Given the description of an element on the screen output the (x, y) to click on. 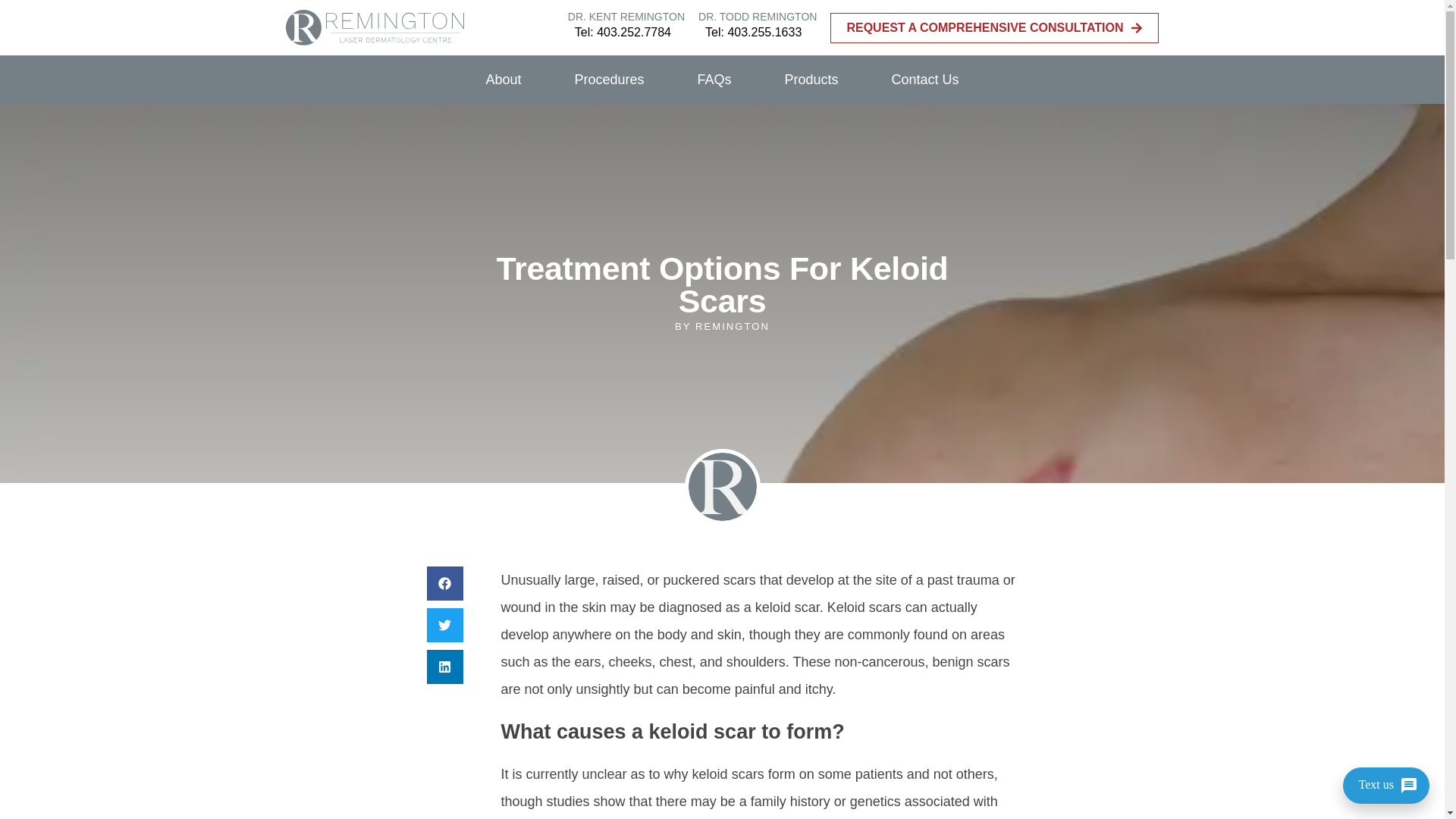
DR. KENT REMINGTON (625, 16)
DR. TODD REMINGTON (757, 16)
Procedures (608, 79)
Tel: 403.255.1633 (753, 31)
REQUEST A COMPREHENSIVE CONSULTATION (993, 28)
About (502, 79)
Tel: 403.252.7784 (623, 31)
